Given the description of an element on the screen output the (x, y) to click on. 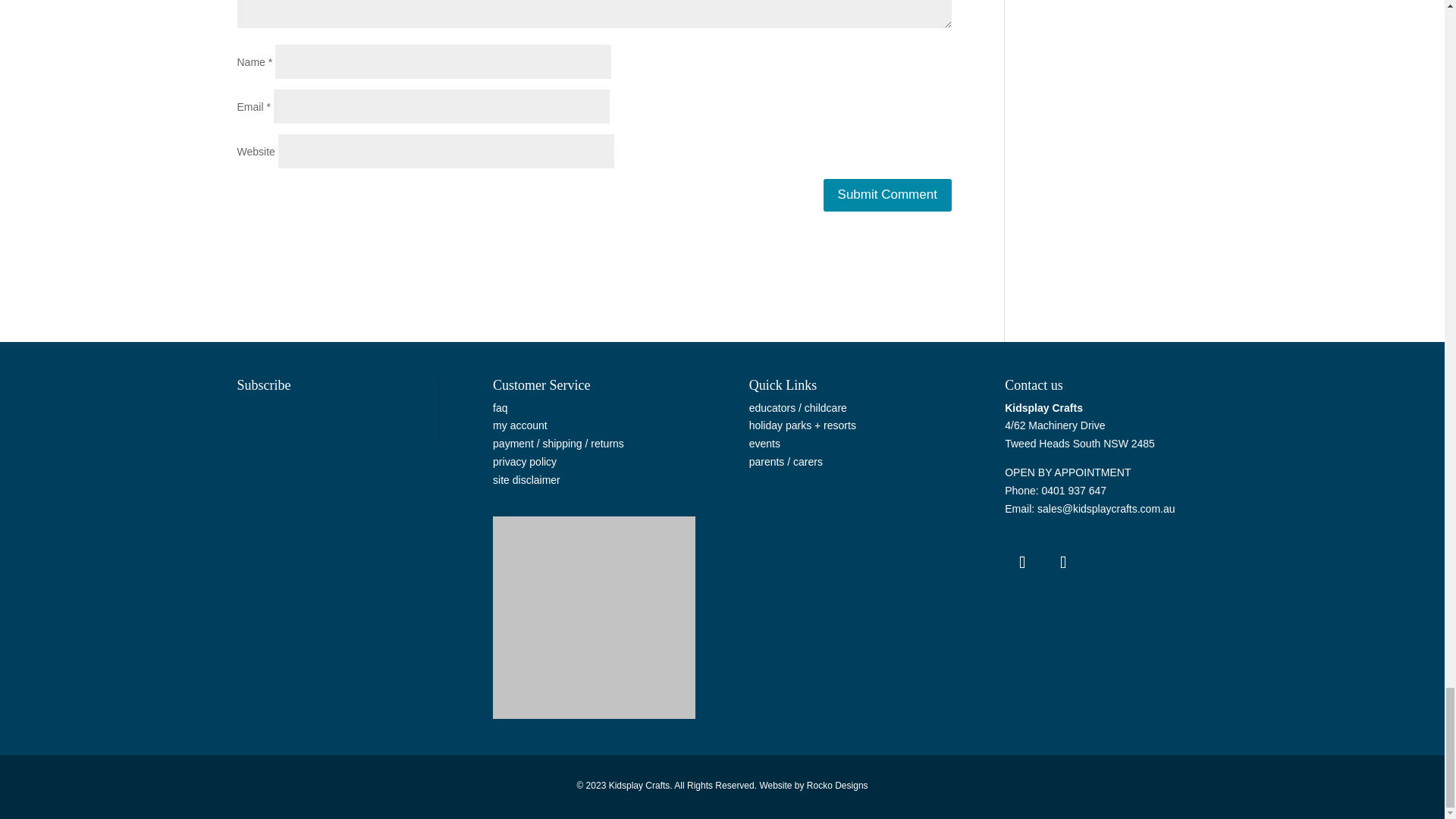
Submit Comment (888, 195)
Follow on Instagram (1062, 562)
Follow on Facebook (1021, 562)
Powered by Stripe - blurple (594, 617)
